Given the description of an element on the screen output the (x, y) to click on. 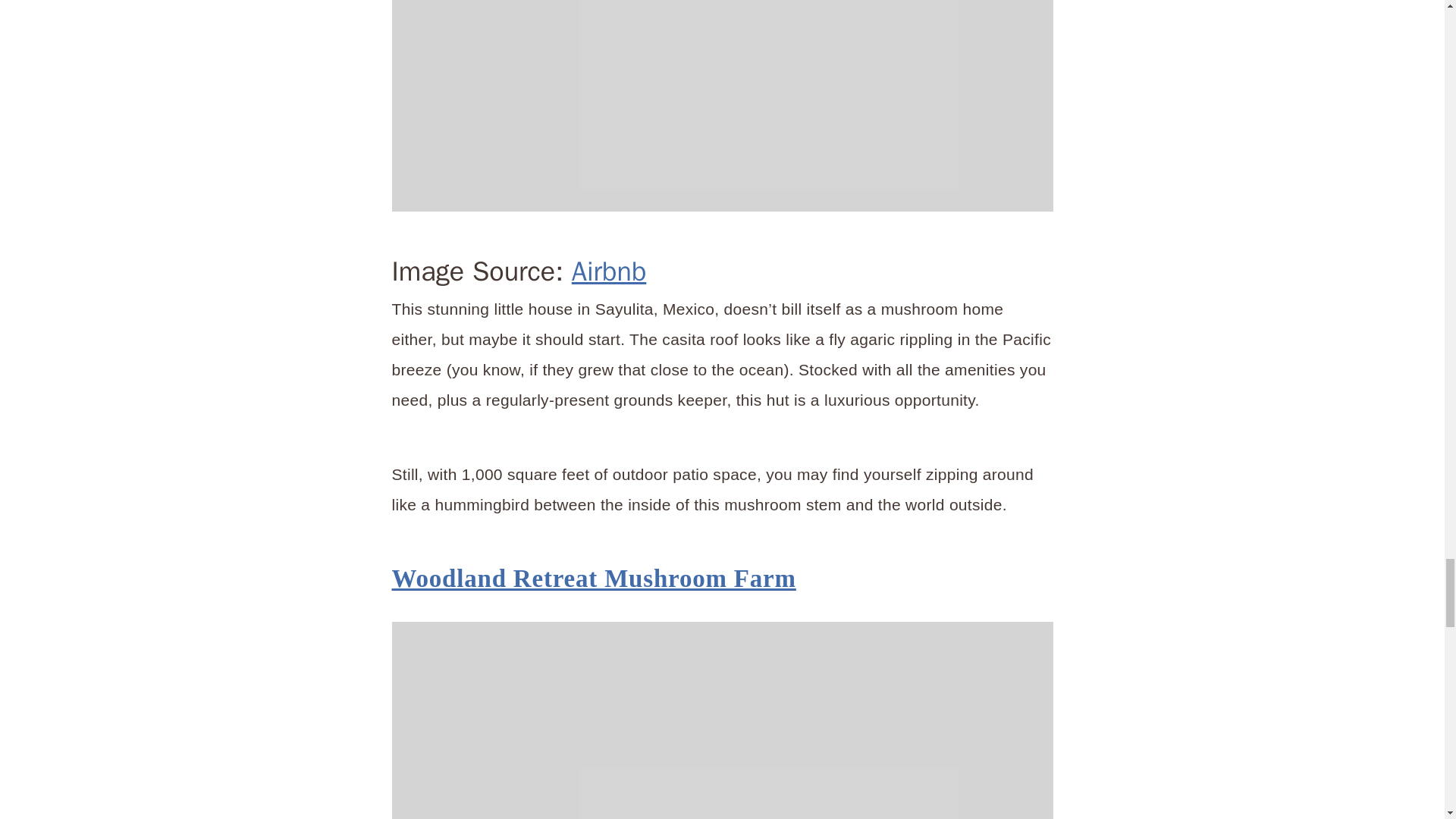
Airbnb (609, 271)
Airbnb (721, 720)
Woodland Retreat Mushroom Farm (592, 578)
